Given the description of an element on the screen output the (x, y) to click on. 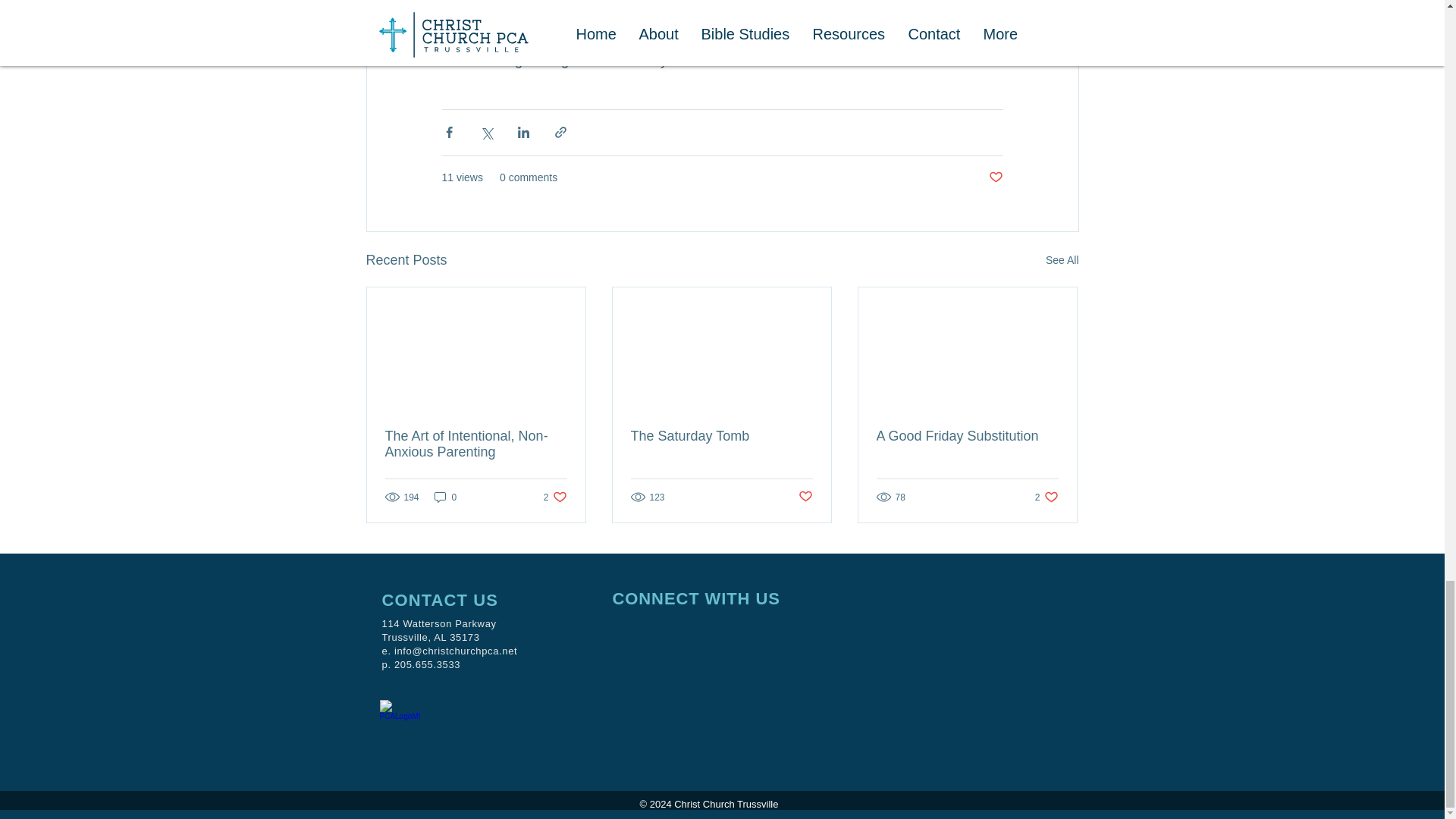
See All (1046, 496)
The Saturday Tomb (1061, 260)
0 (721, 436)
Post not marked as liked (445, 496)
Post not marked as liked (804, 496)
A Good Friday Substitution (995, 176)
The Art of Intentional, Non-Anxious Parenting (967, 436)
